Given the description of an element on the screen output the (x, y) to click on. 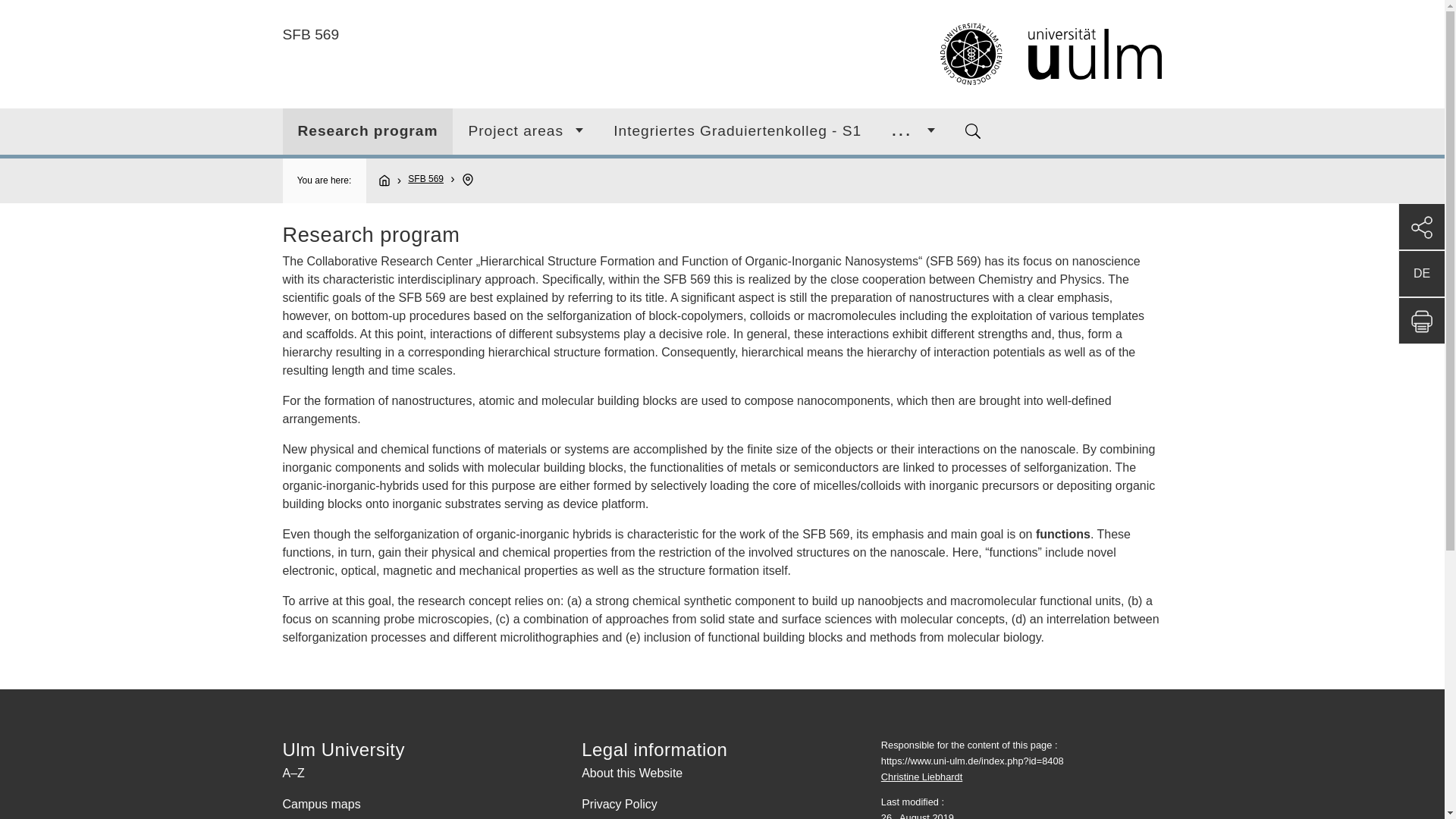
SFB 569 (310, 34)
Research program (367, 131)
Zeige Seite auf Deutsch (1421, 273)
Home (390, 180)
Integriertes Graduiertenkolleg - S1 (737, 131)
Skip to main navigation (740, 5)
SFB 569 (425, 179)
Home (945, 53)
Search (972, 130)
Print this page (1421, 320)
Share (1421, 226)
